Given the description of an element on the screen output the (x, y) to click on. 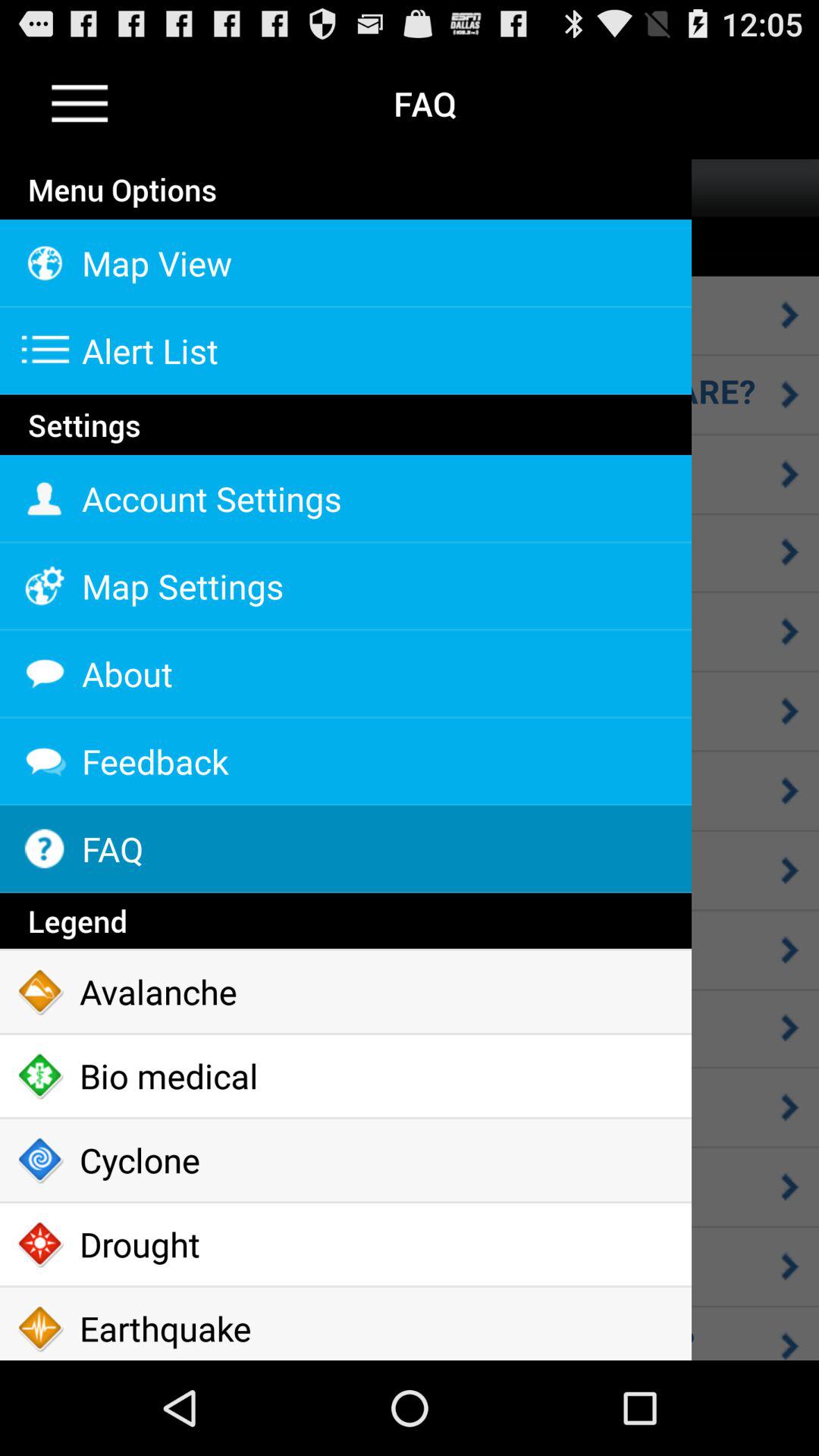
jump to the about item (345, 673)
